Given the description of an element on the screen output the (x, y) to click on. 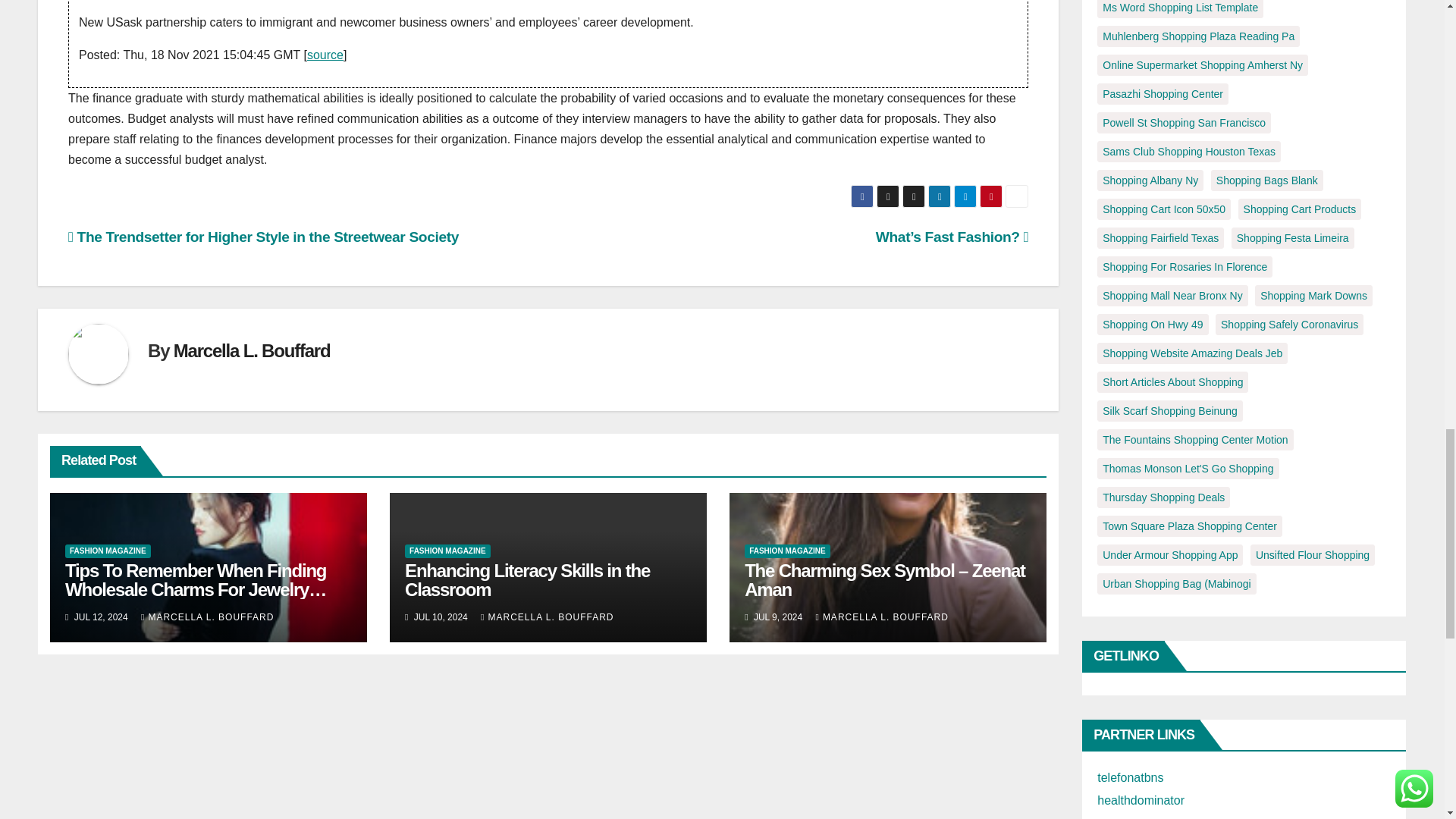
source (325, 54)
Permalink to: Enhancing Literacy Skills in the Classroom (526, 578)
